Given the description of an element on the screen output the (x, y) to click on. 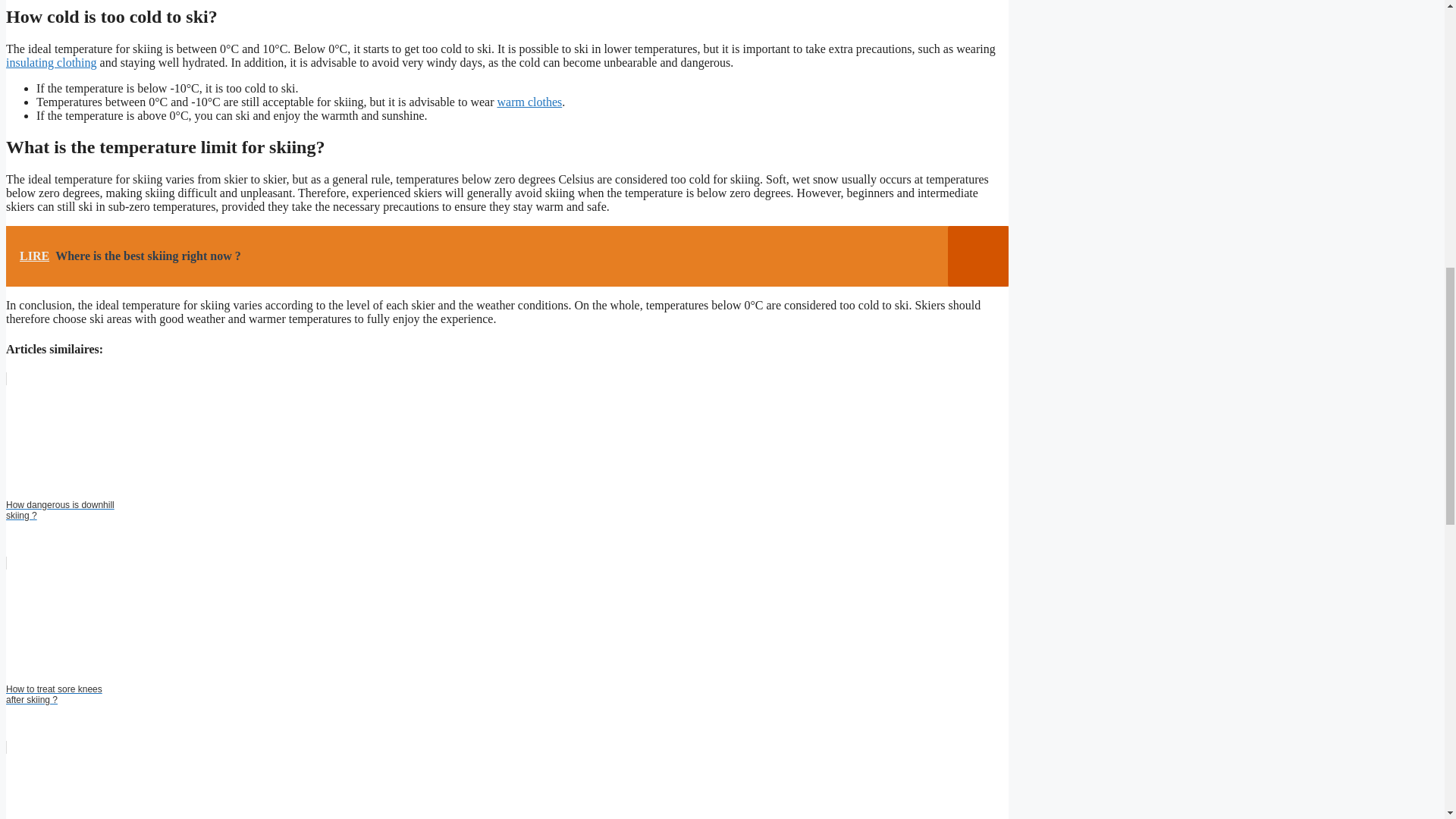
warm clothes (529, 101)
LIRE  Where is the best skiing right now ? (507, 256)
insulating clothing (51, 62)
How long does it take to learn cross country skiing ? (507, 780)
